Given the description of an element on the screen output the (x, y) to click on. 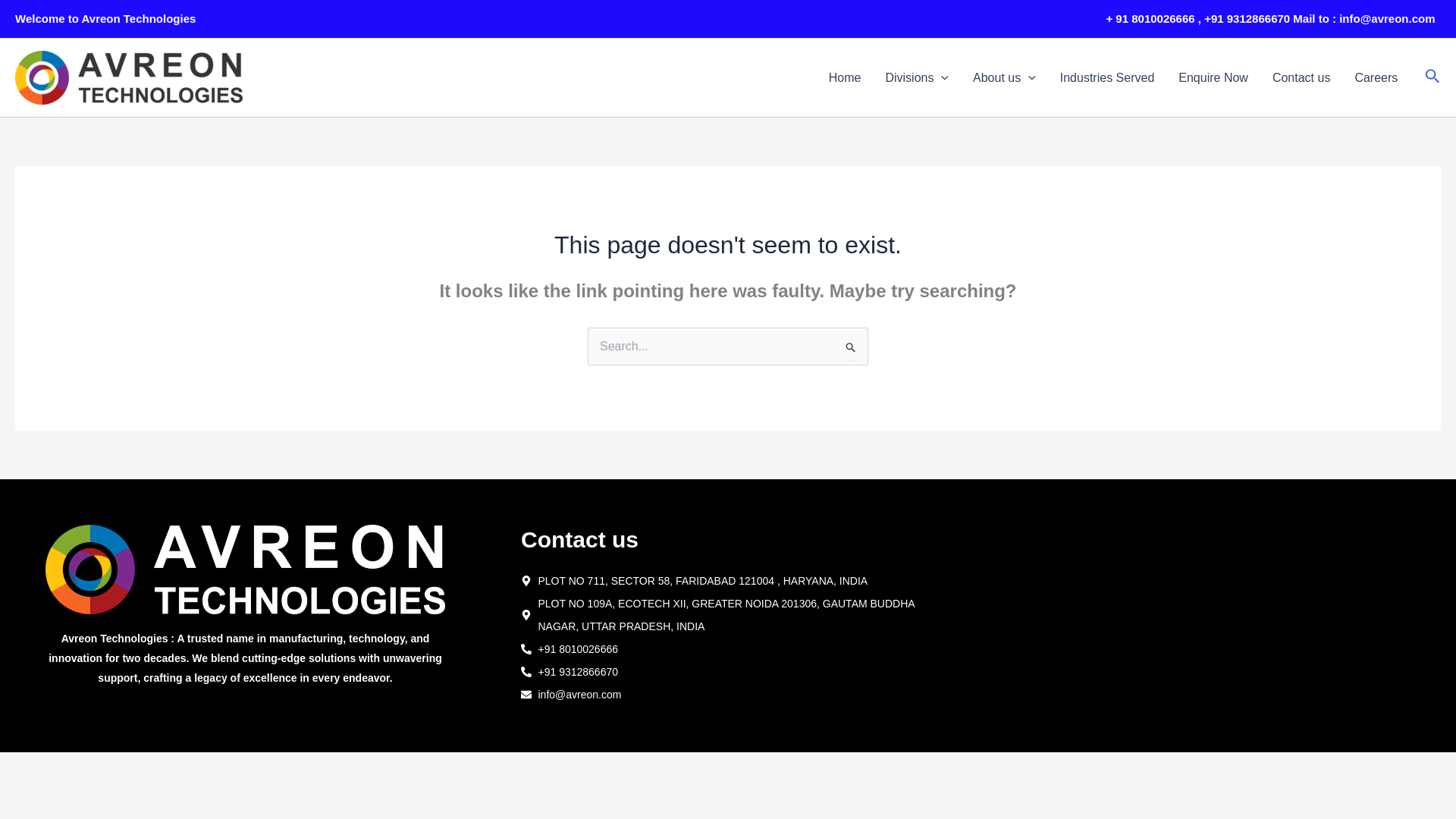
Divisions (916, 76)
Home (844, 76)
About us (1004, 76)
